Given the description of an element on the screen output the (x, y) to click on. 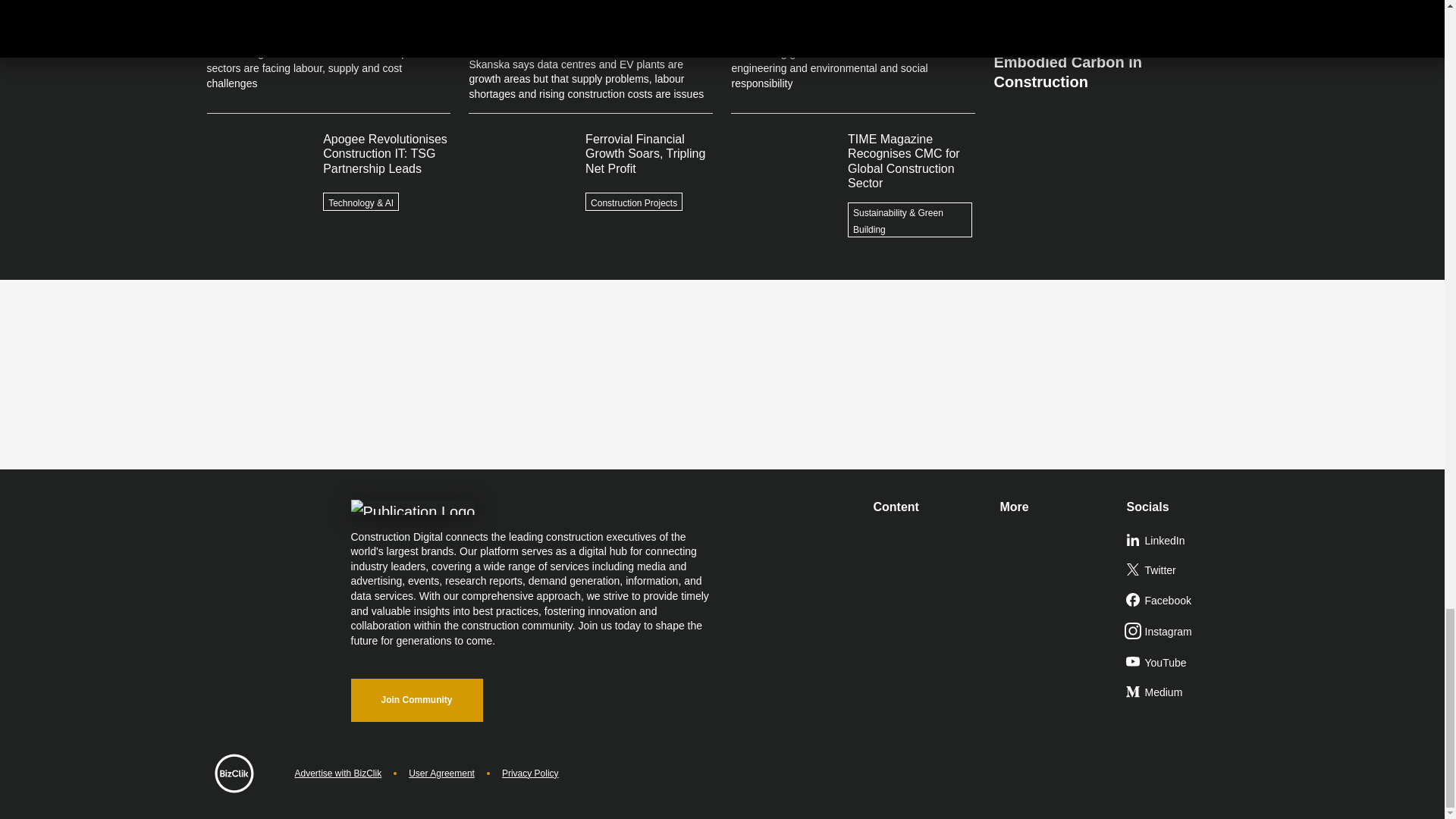
Facebook (1182, 601)
YouTube (1182, 663)
LinkedIn (1182, 541)
Instagram (1182, 632)
Twitter (1182, 571)
Bouygues UK Discusses Embodied Carbon in Construction (1114, 55)
Join Community (415, 699)
COOEC Constructs Giant Oil and Gas Platform for Saudi Aramco (1114, 10)
Medium (1182, 693)
